Given the description of an element on the screen output the (x, y) to click on. 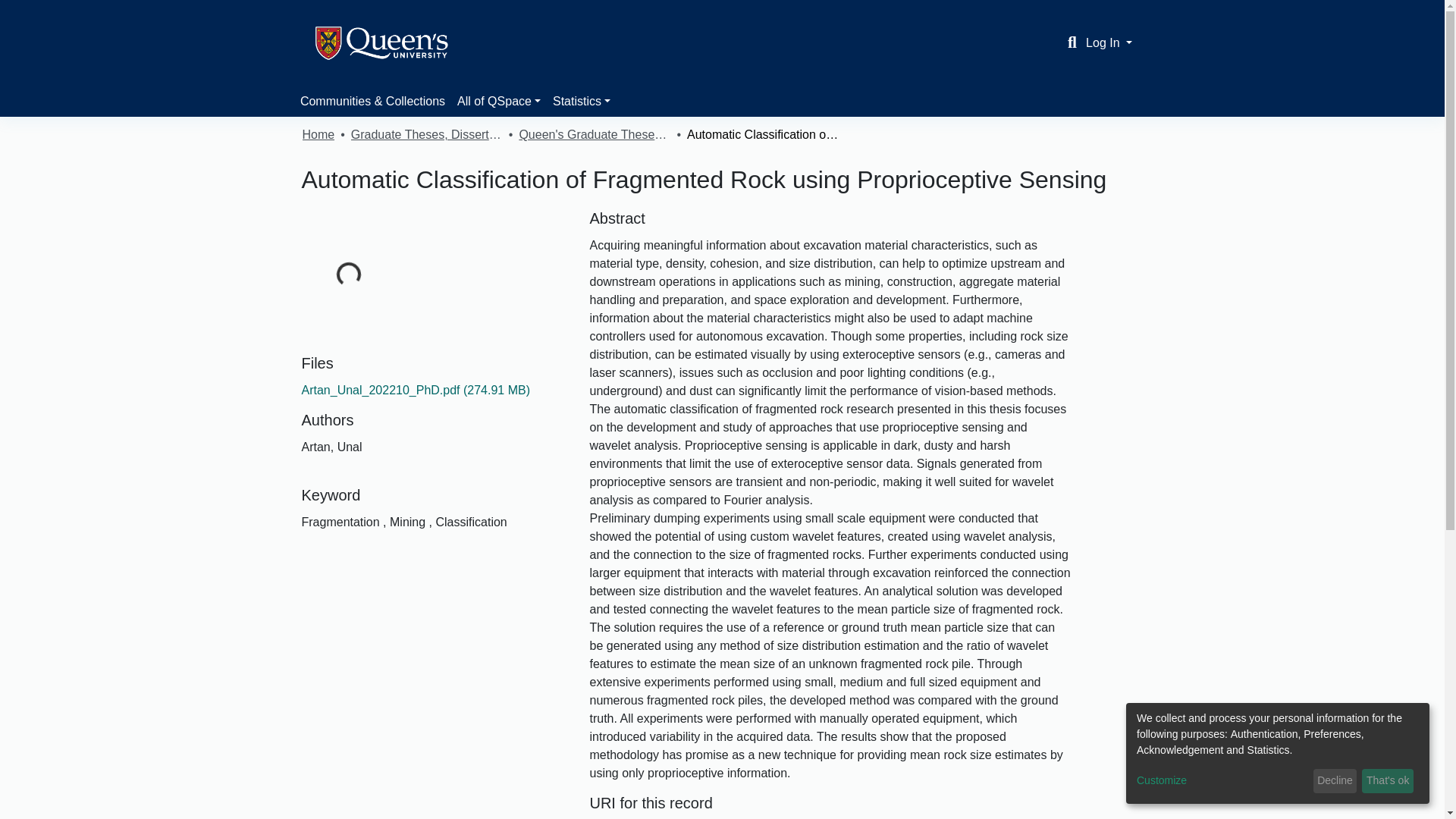
Queen's Graduate Theses and Dissertations (593, 135)
Statistics (581, 101)
All of QSpace (499, 101)
Home (317, 135)
Customize (1222, 780)
That's ok (1387, 781)
Graduate Theses, Dissertations and Projects (426, 135)
Search (1072, 43)
Decline (1334, 781)
Log In (1108, 42)
